Given the description of an element on the screen output the (x, y) to click on. 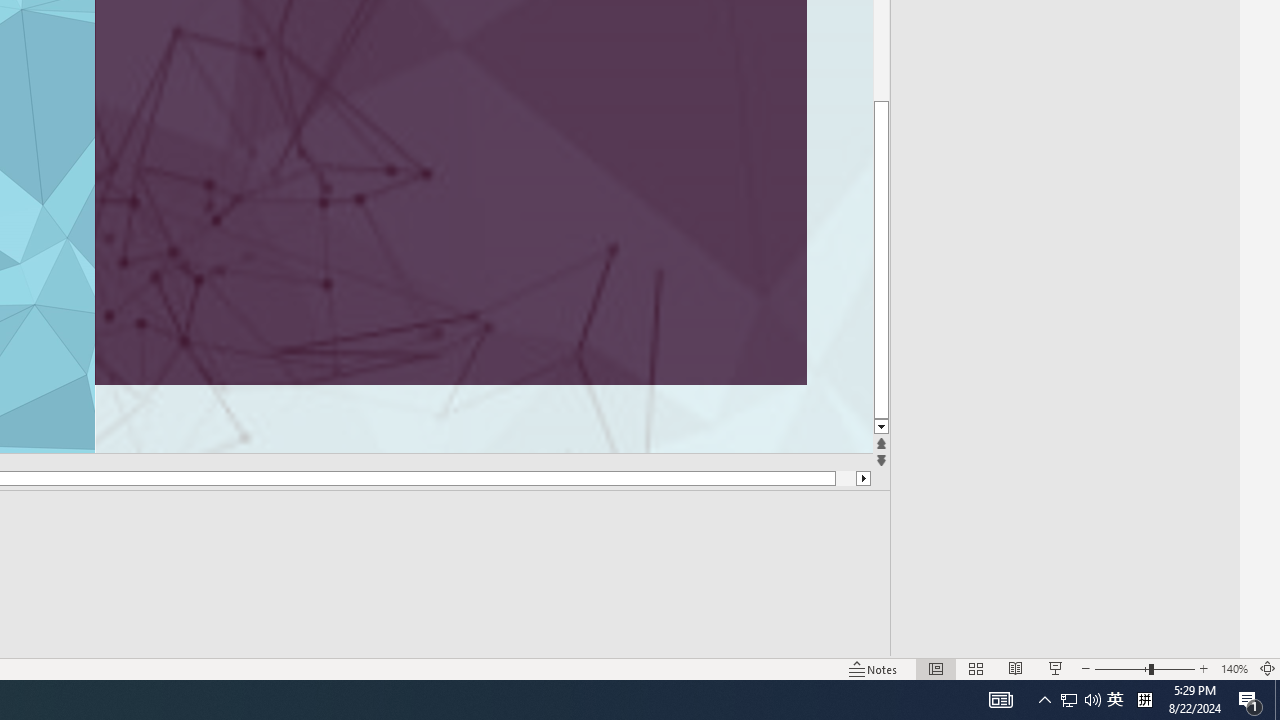
Zoom 140% (1234, 668)
